Given the description of an element on the screen output the (x, y) to click on. 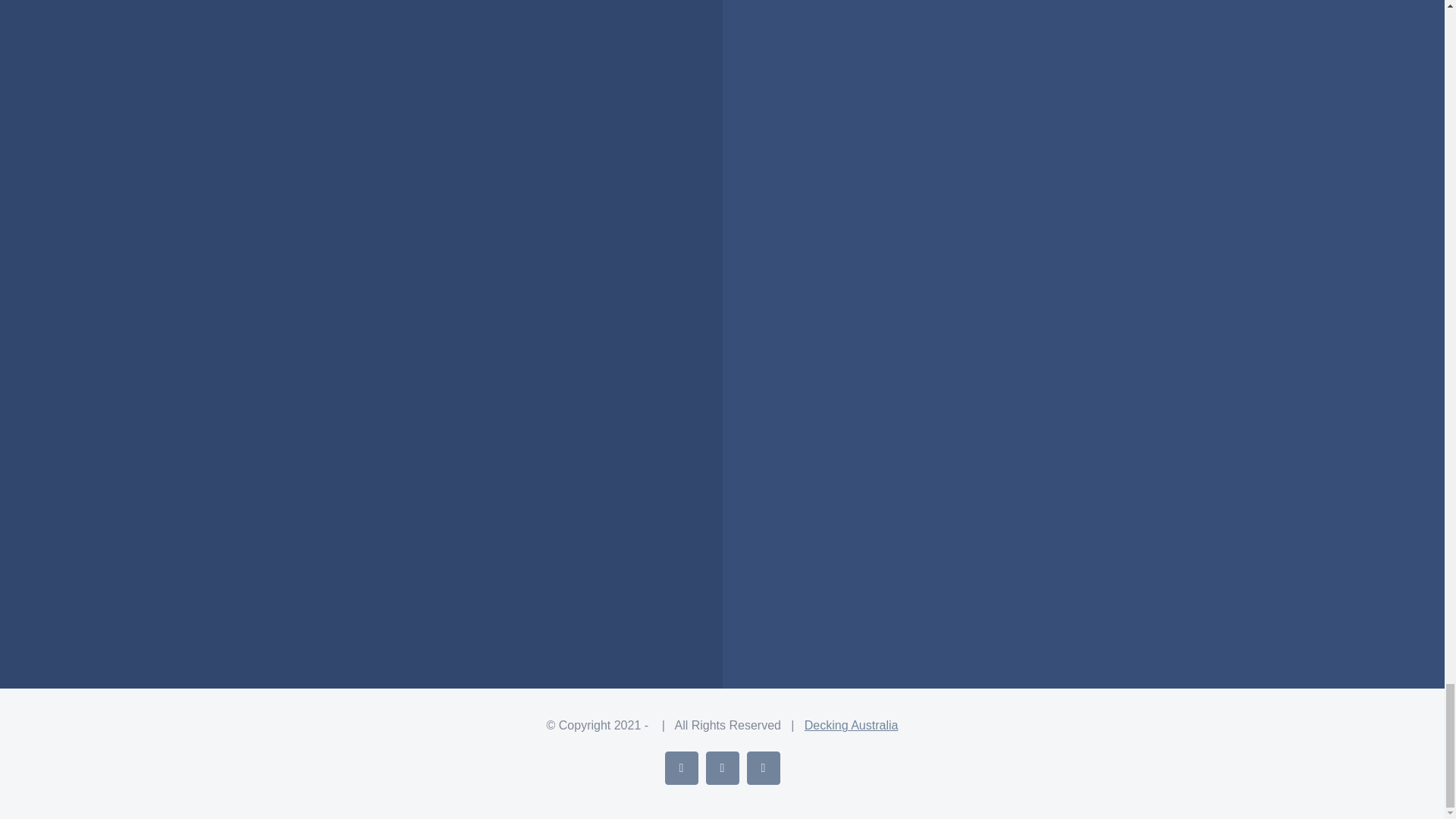
YouTube (721, 767)
Facebook (680, 767)
Facebook (680, 767)
Tiktok (761, 767)
YouTube (721, 767)
Decking Australia (851, 725)
Tiktok (761, 767)
